Given the description of an element on the screen output the (x, y) to click on. 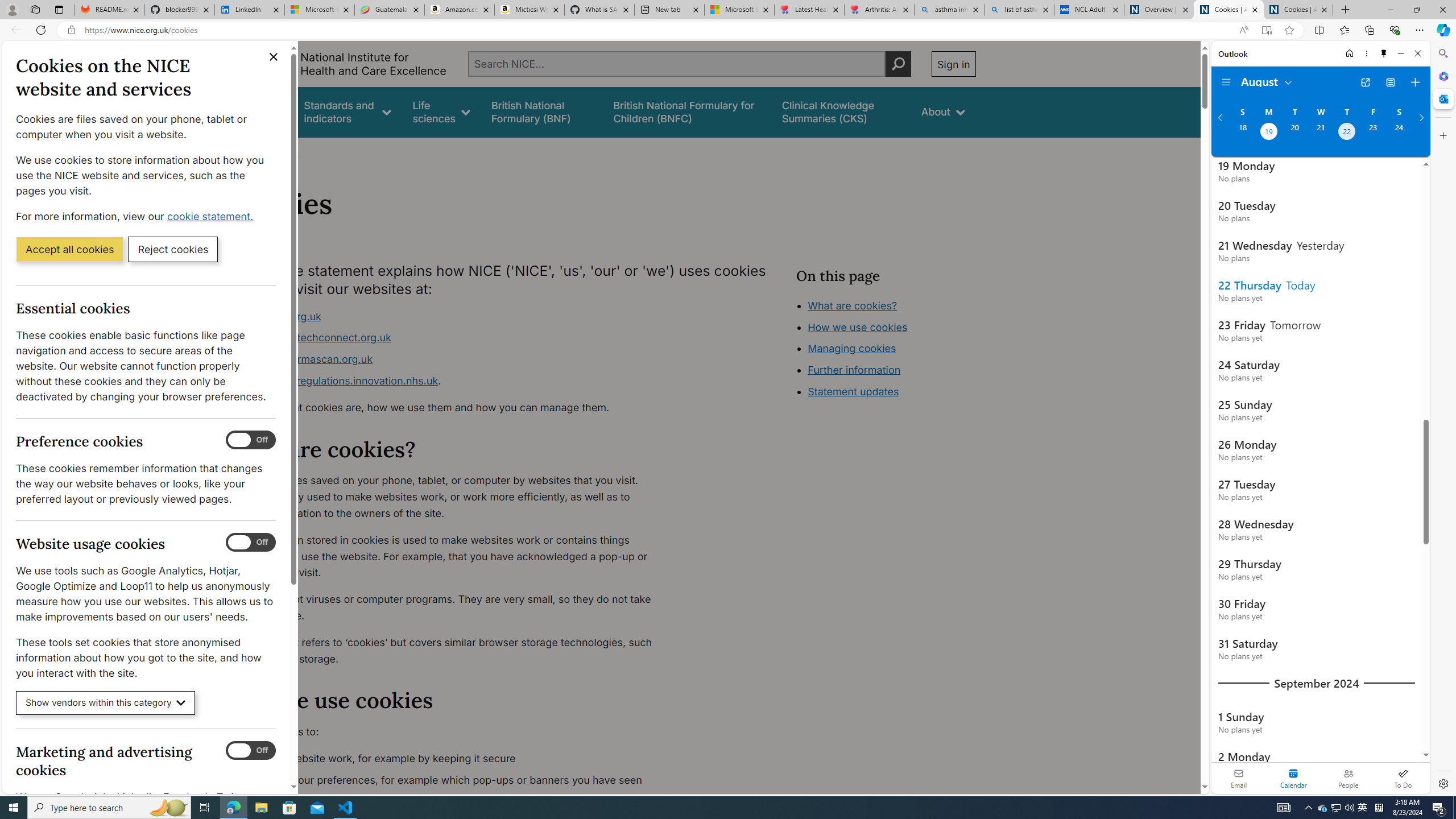
Monday, August 19, 2024. Date selected.  (1268, 132)
View Switcher. Current view is Agenda view (1390, 82)
Class: in-page-nav__list (884, 349)
asthma inhaler - Search (949, 9)
Perform search (898, 63)
Sunday, August 18, 2024.  (1242, 132)
www.digitalregulations.innovation.nhs.uk. (452, 380)
